Given the description of an element on the screen output the (x, y) to click on. 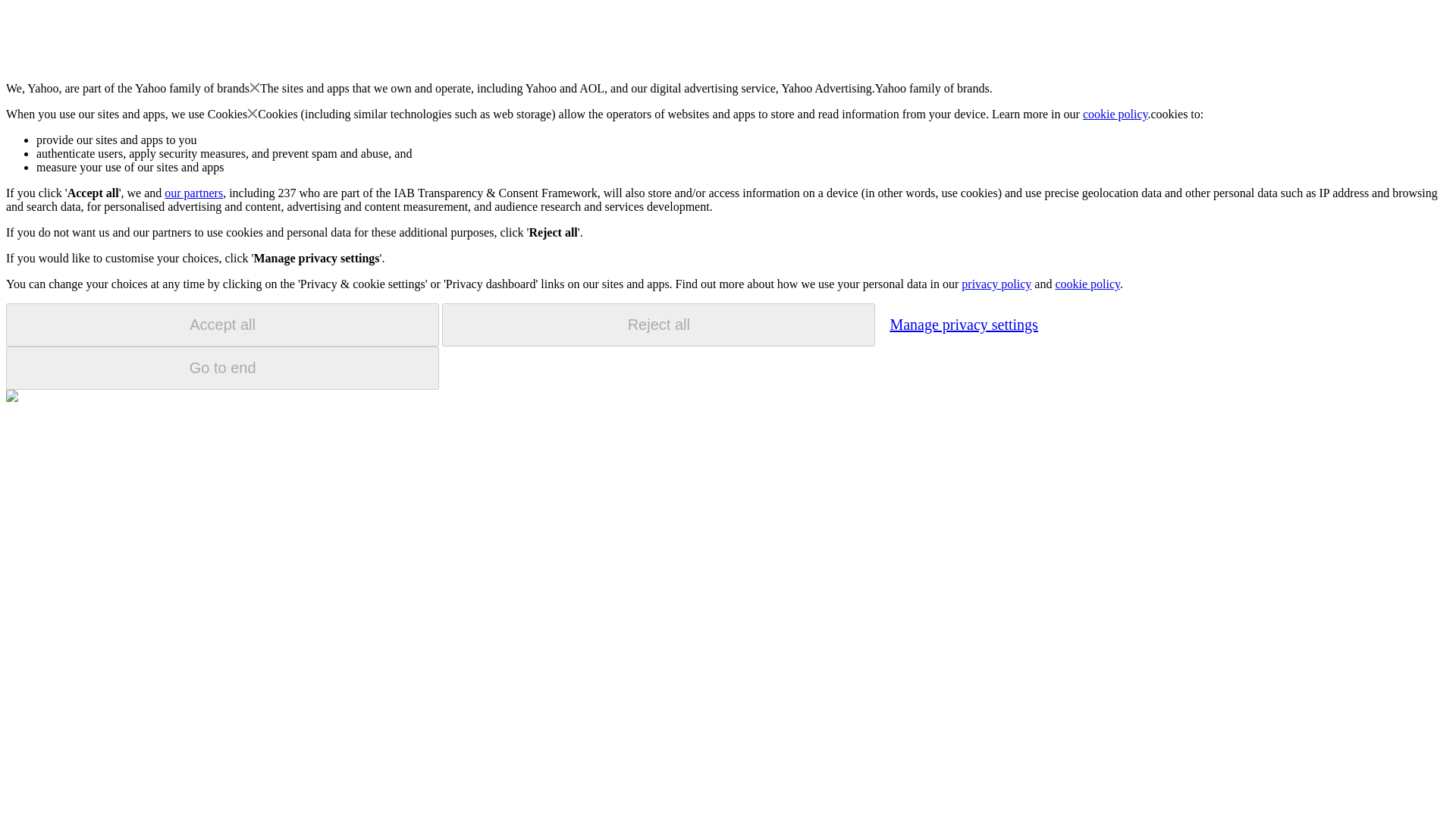
Accept all (222, 324)
cookie policy (1115, 113)
cookie policy (1086, 283)
Reject all (658, 324)
privacy policy (995, 283)
our partners (193, 192)
Manage privacy settings (963, 323)
Go to end (222, 367)
